Given the description of an element on the screen output the (x, y) to click on. 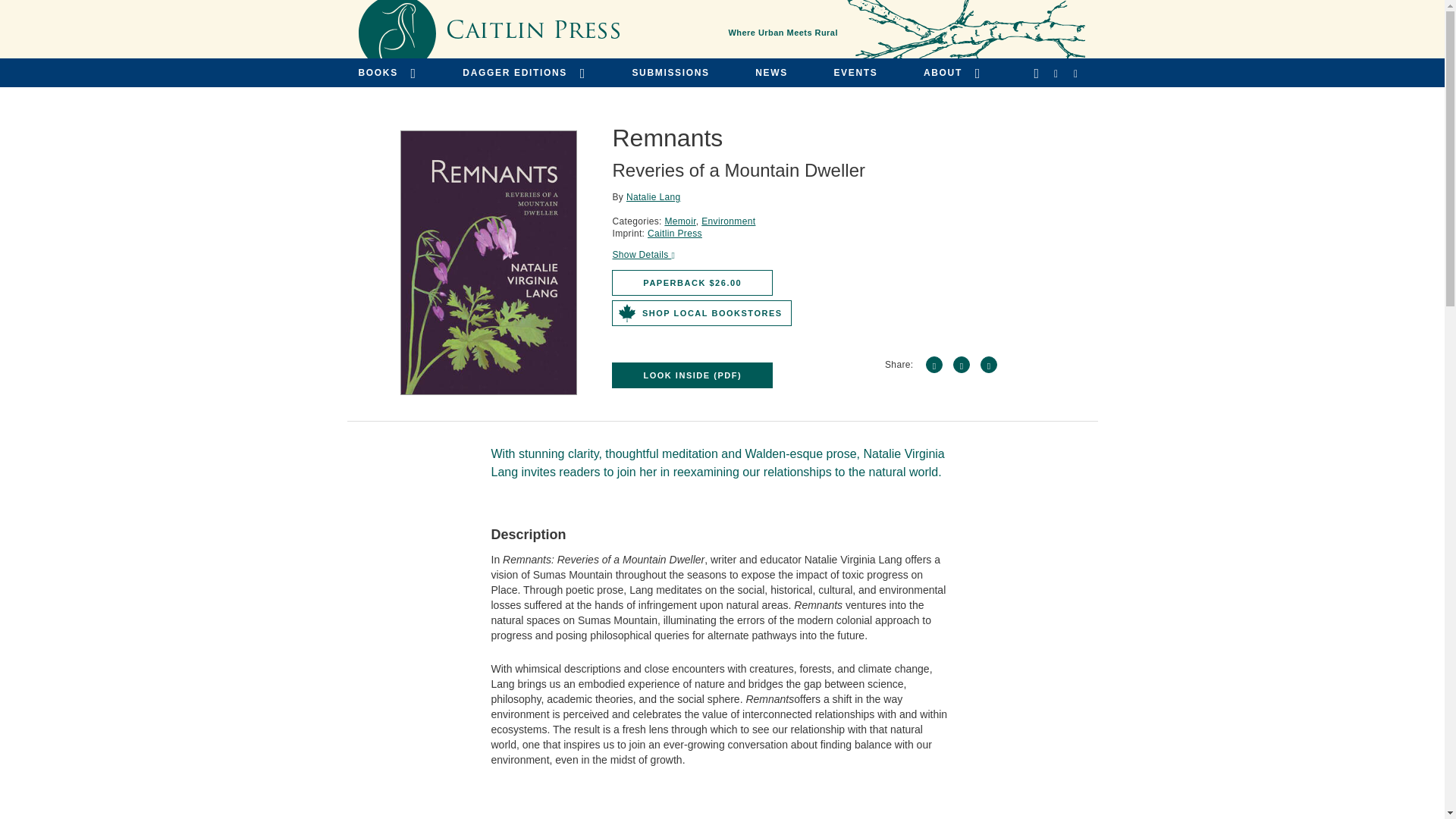
NEWS (771, 72)
BOOKS (387, 72)
DAGGER EDITIONS (524, 72)
Find an independent bookseller near you (701, 312)
EVENTS (854, 72)
SUBMISSIONS (670, 72)
